Given the description of an element on the screen output the (x, y) to click on. 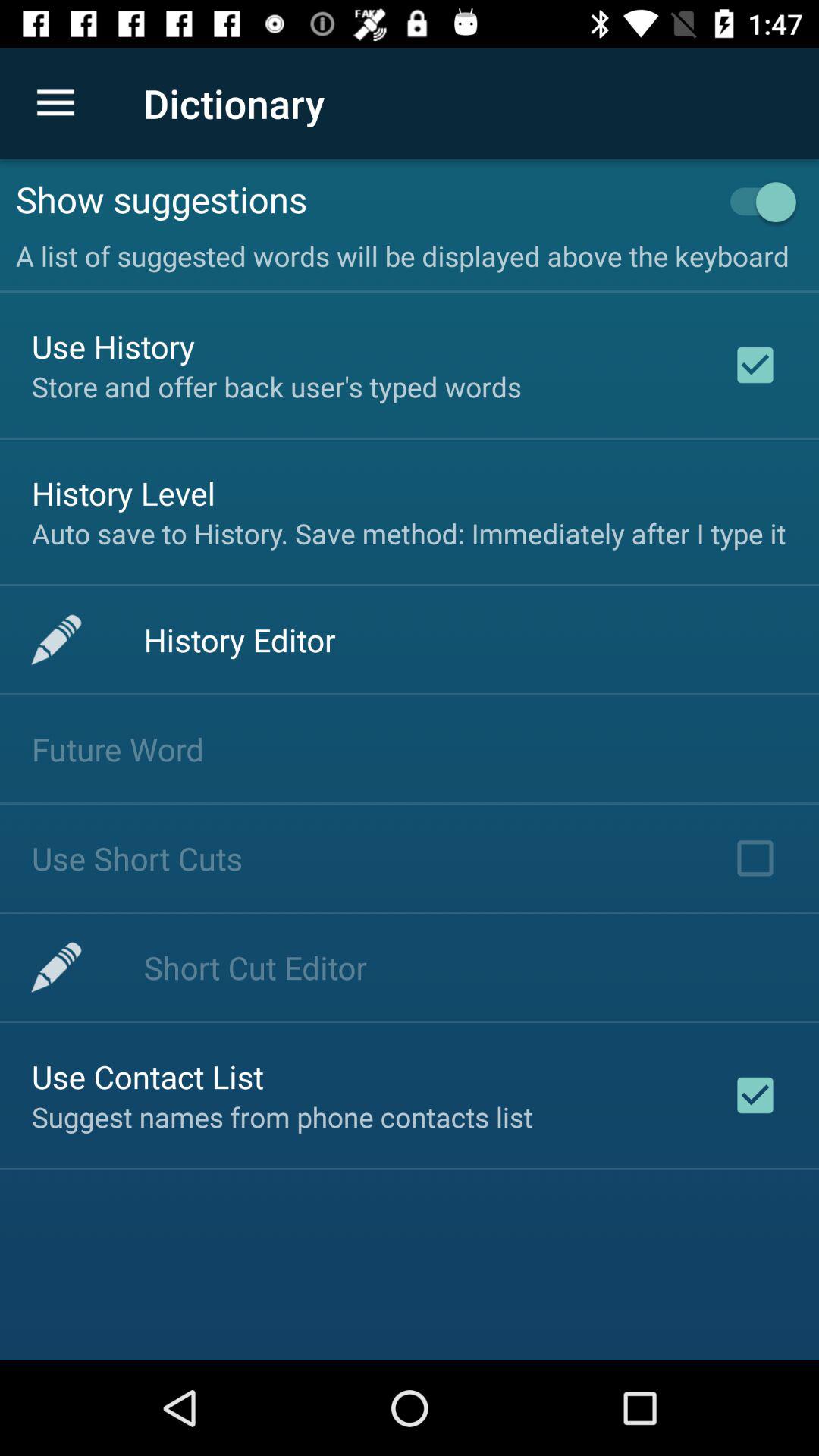
jump to the suggest names from item (281, 1116)
